Given the description of an element on the screen output the (x, y) to click on. 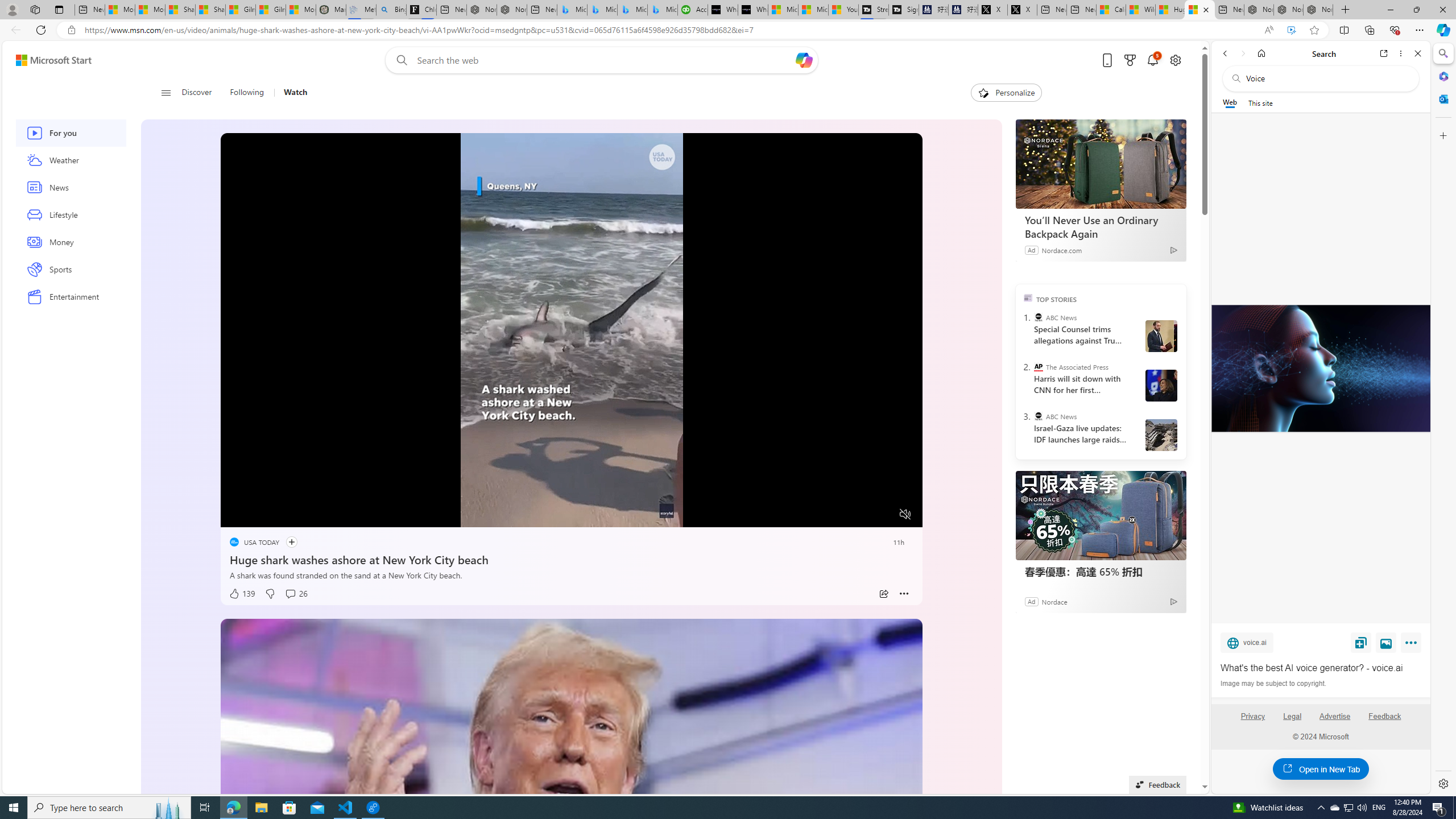
Share (883, 593)
Personalize (1006, 92)
The Associated Press (1037, 366)
Nordace - Best Sellers (1258, 9)
Enhance video (1291, 29)
More (903, 593)
